Given the description of an element on the screen output the (x, y) to click on. 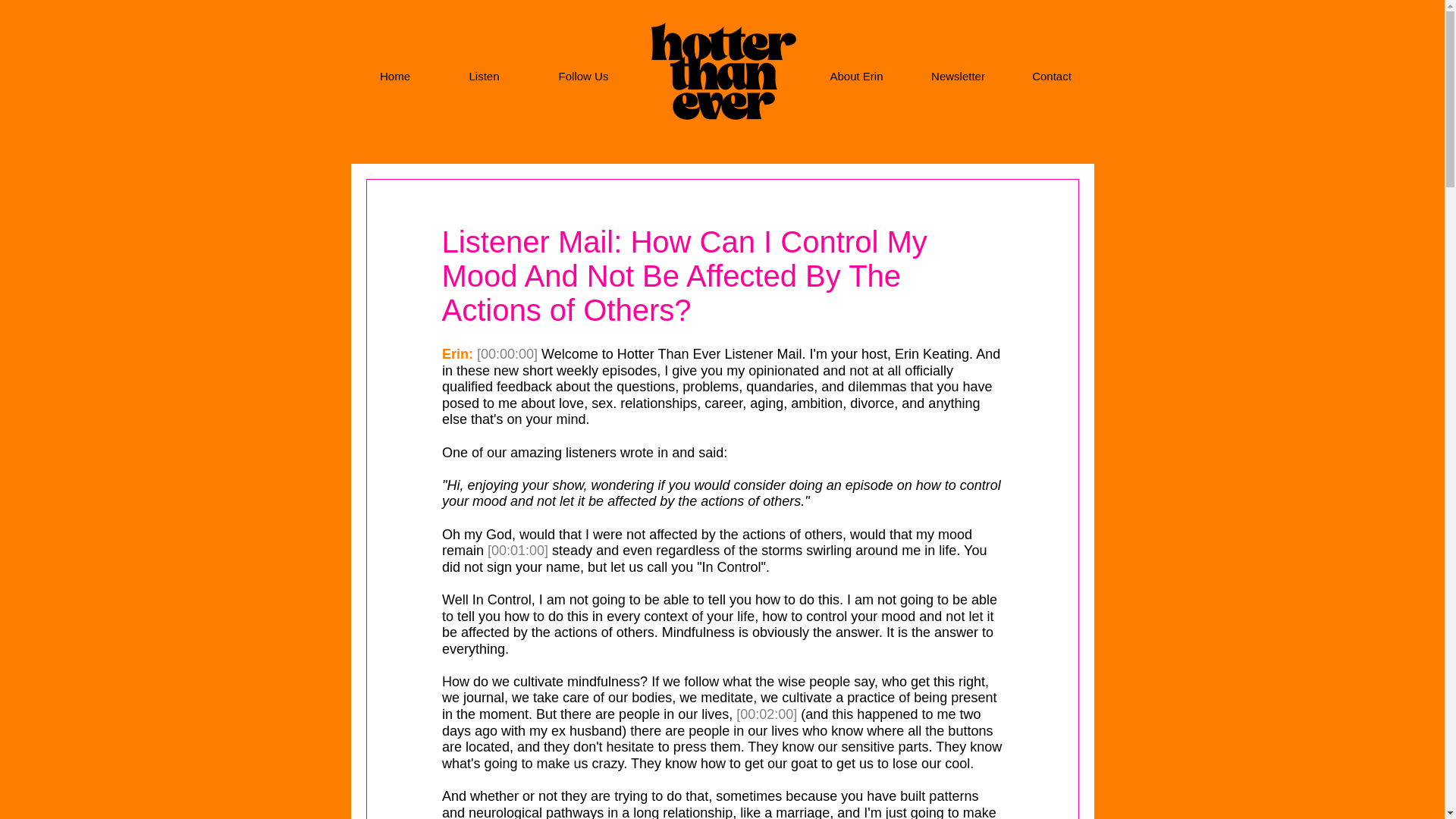
Listen (484, 76)
About Erin (856, 76)
Newsletter (958, 76)
Home (394, 76)
Contact (1052, 76)
Follow Us (584, 76)
